Given the description of an element on the screen output the (x, y) to click on. 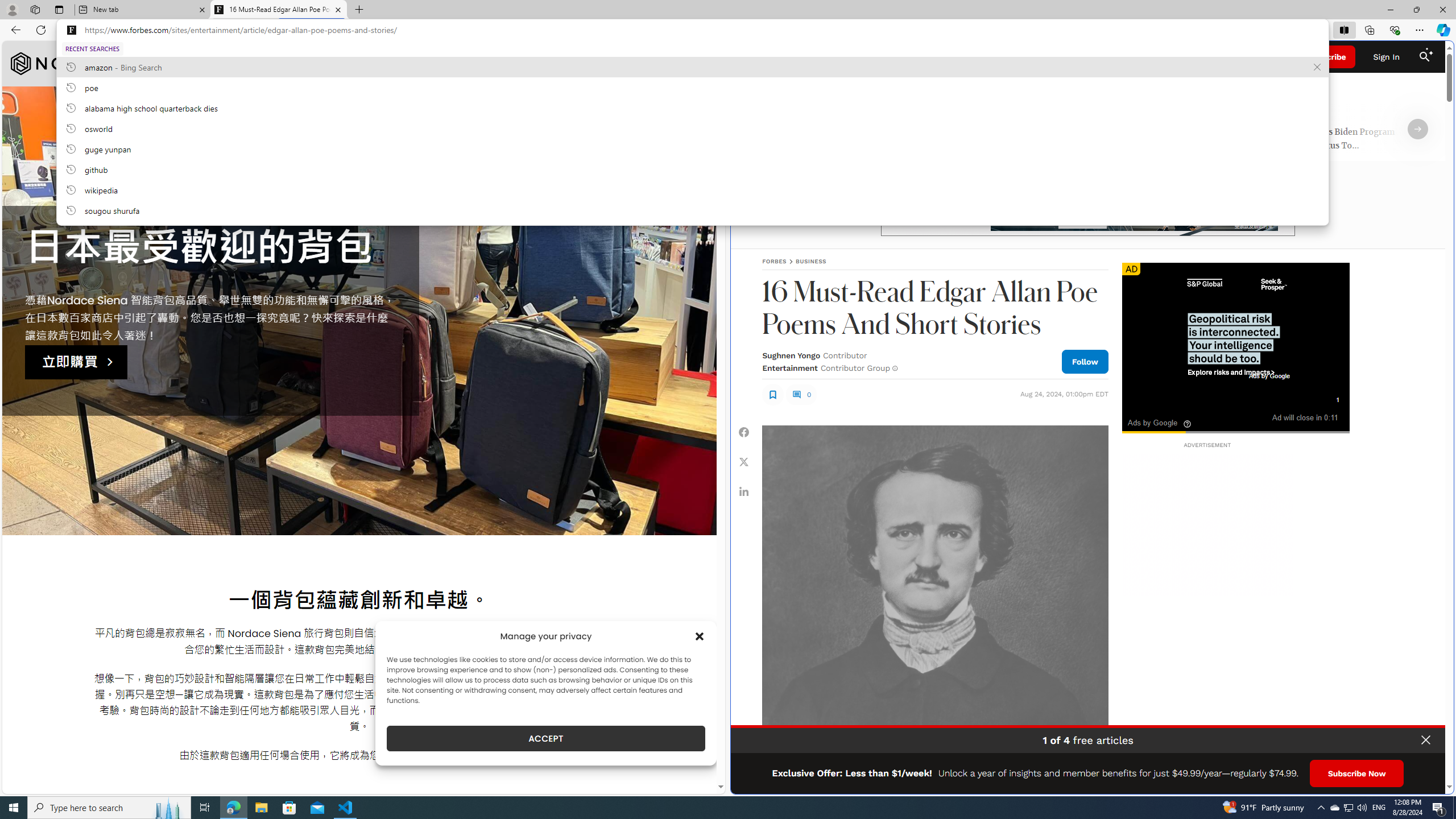
Share Facebook (743, 431)
Class: cmplz-close (699, 636)
To get missing image descriptions, open the context menu. (1234, 326)
Skip Ad Countdown (1336, 399)
Entertainment (789, 367)
